Given the description of an element on the screen output the (x, y) to click on. 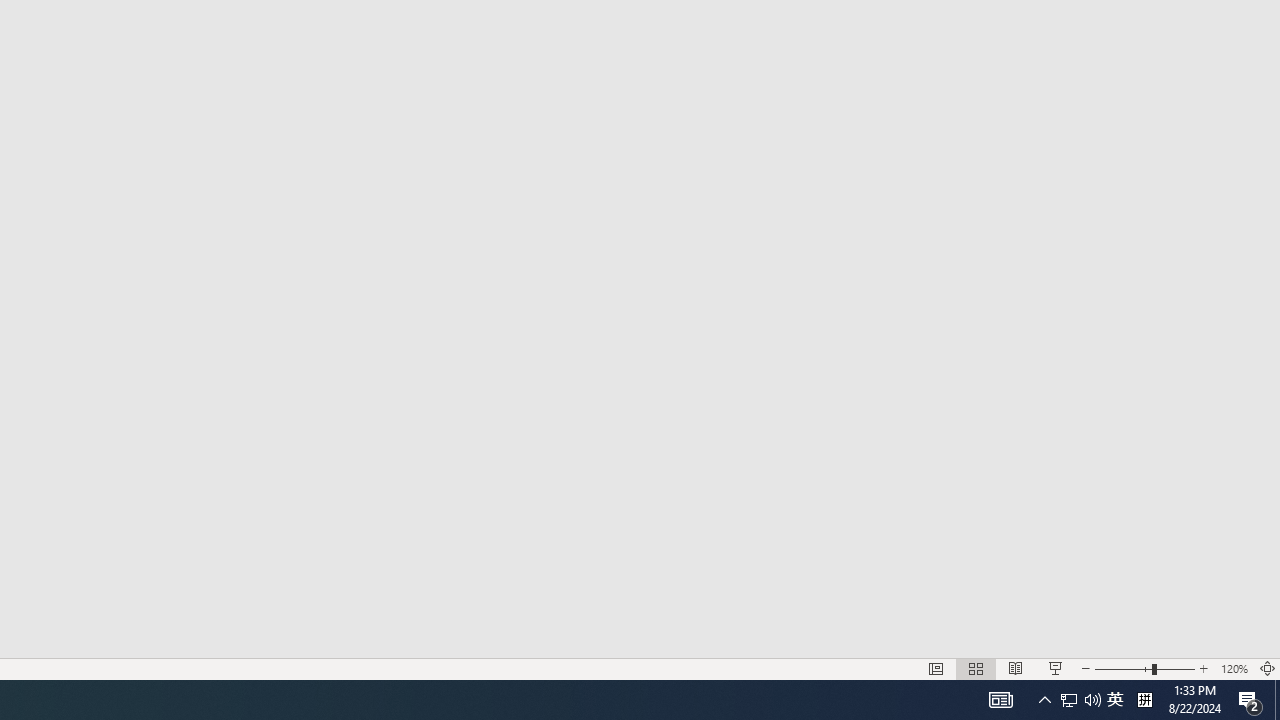
Zoom 120% (1234, 668)
